Given the description of an element on the screen output the (x, y) to click on. 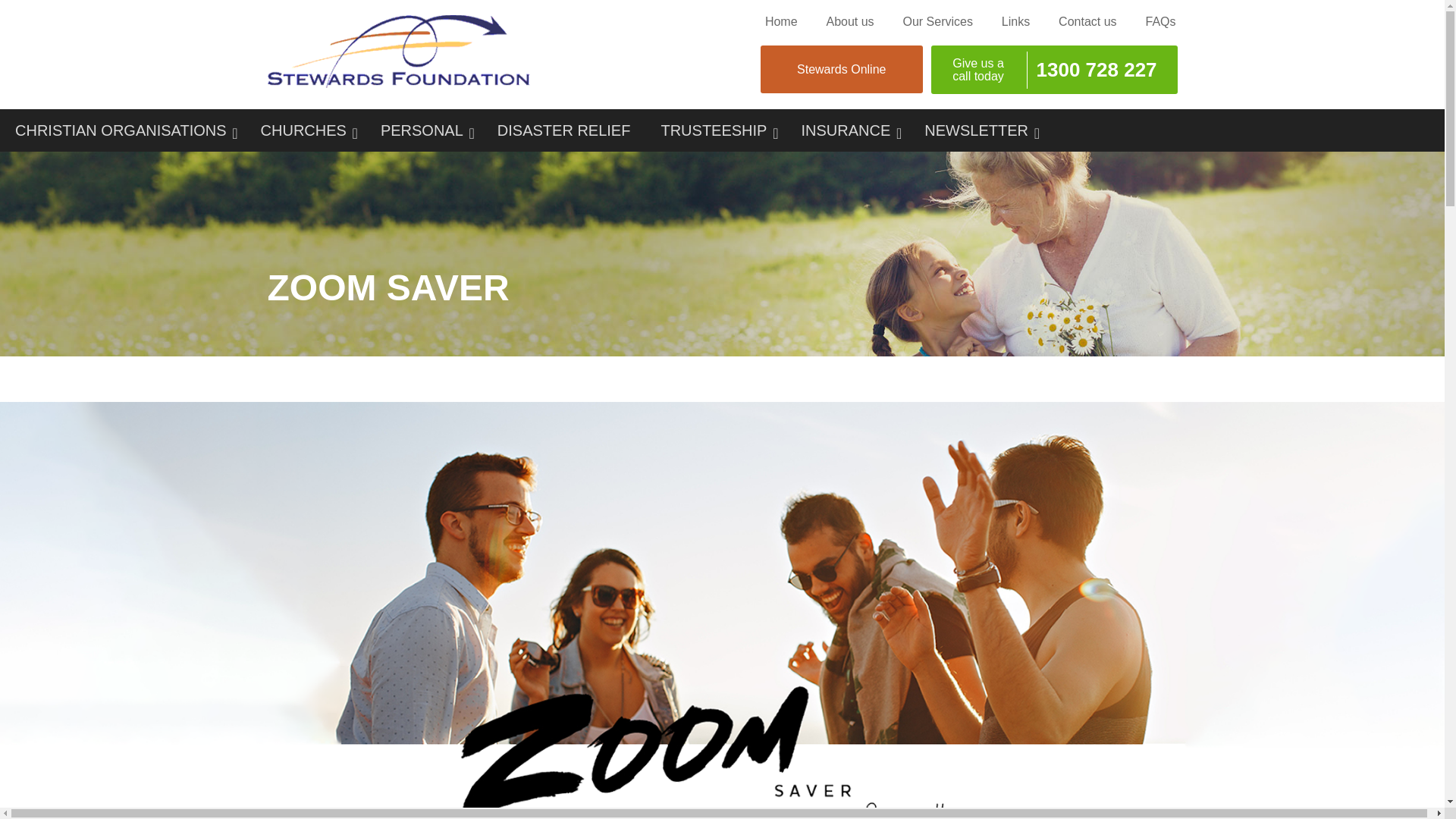
Home (780, 25)
CHRISTIAN ORGANISATIONS (123, 129)
NEWSLETTER (977, 129)
TRUSTEESHIP (715, 129)
PERSONAL (423, 129)
Contact us (1087, 25)
Our Services (937, 25)
About us (849, 25)
Stewards Online (841, 69)
DISASTER RELIEF (563, 129)
FAQs (1159, 25)
CHURCHES (305, 129)
Stewards Foundation (397, 83)
INSURANCE (847, 129)
